Given the description of an element on the screen output the (x, y) to click on. 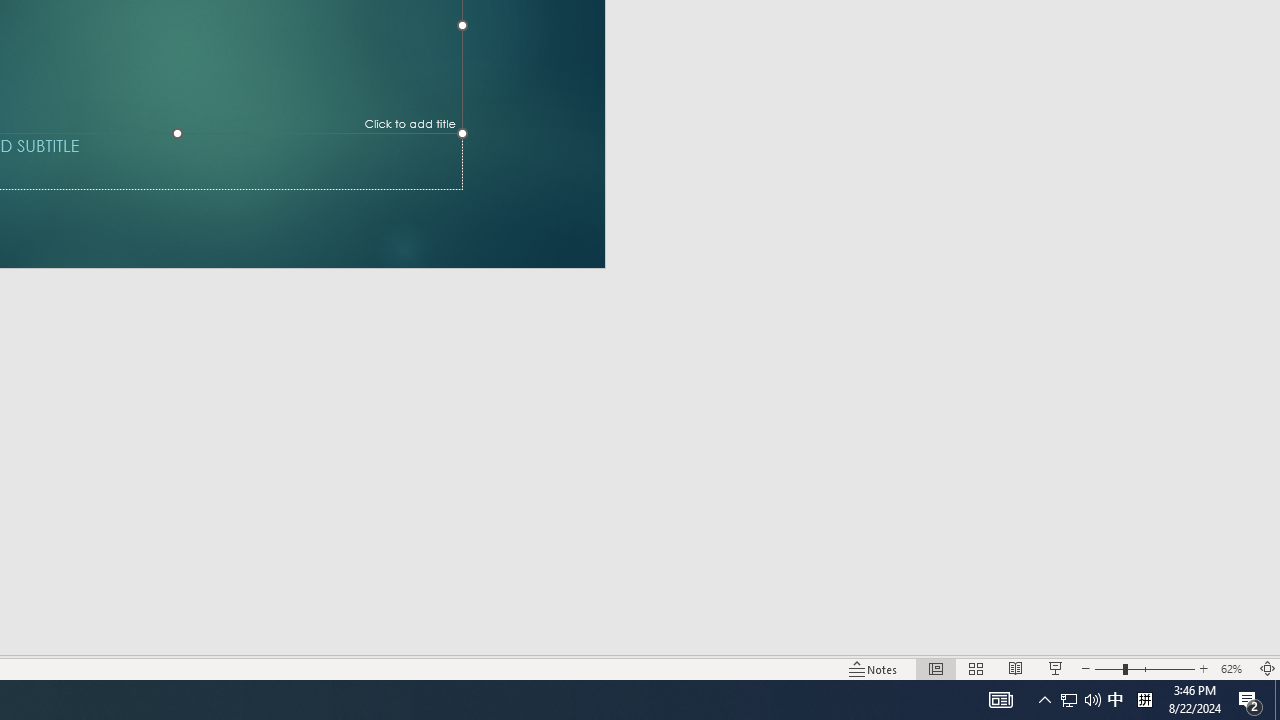
Zoom 62% (1234, 668)
